Given the description of an element on the screen output the (x, y) to click on. 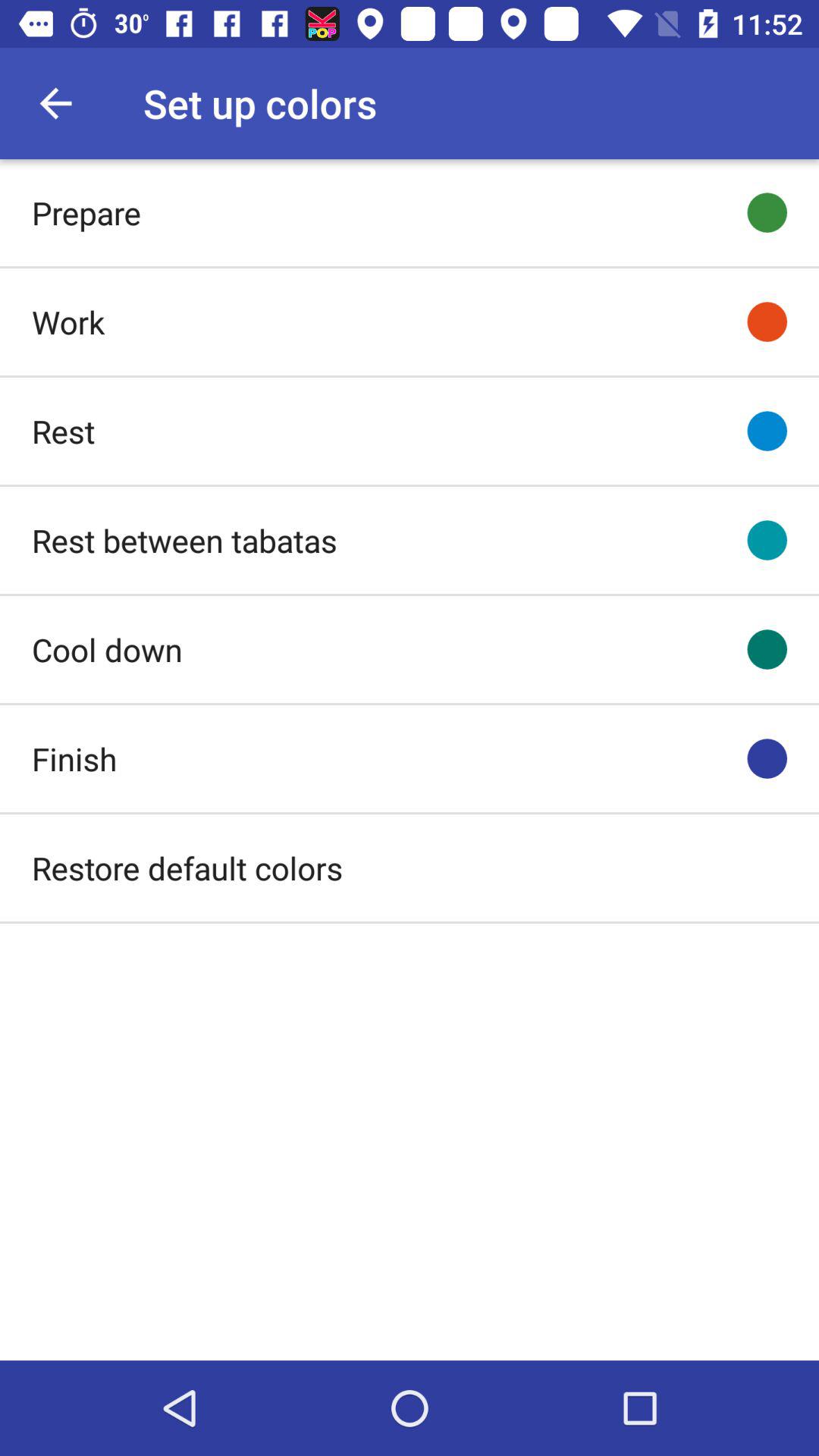
open item above the finish item (106, 649)
